Given the description of an element on the screen output the (x, y) to click on. 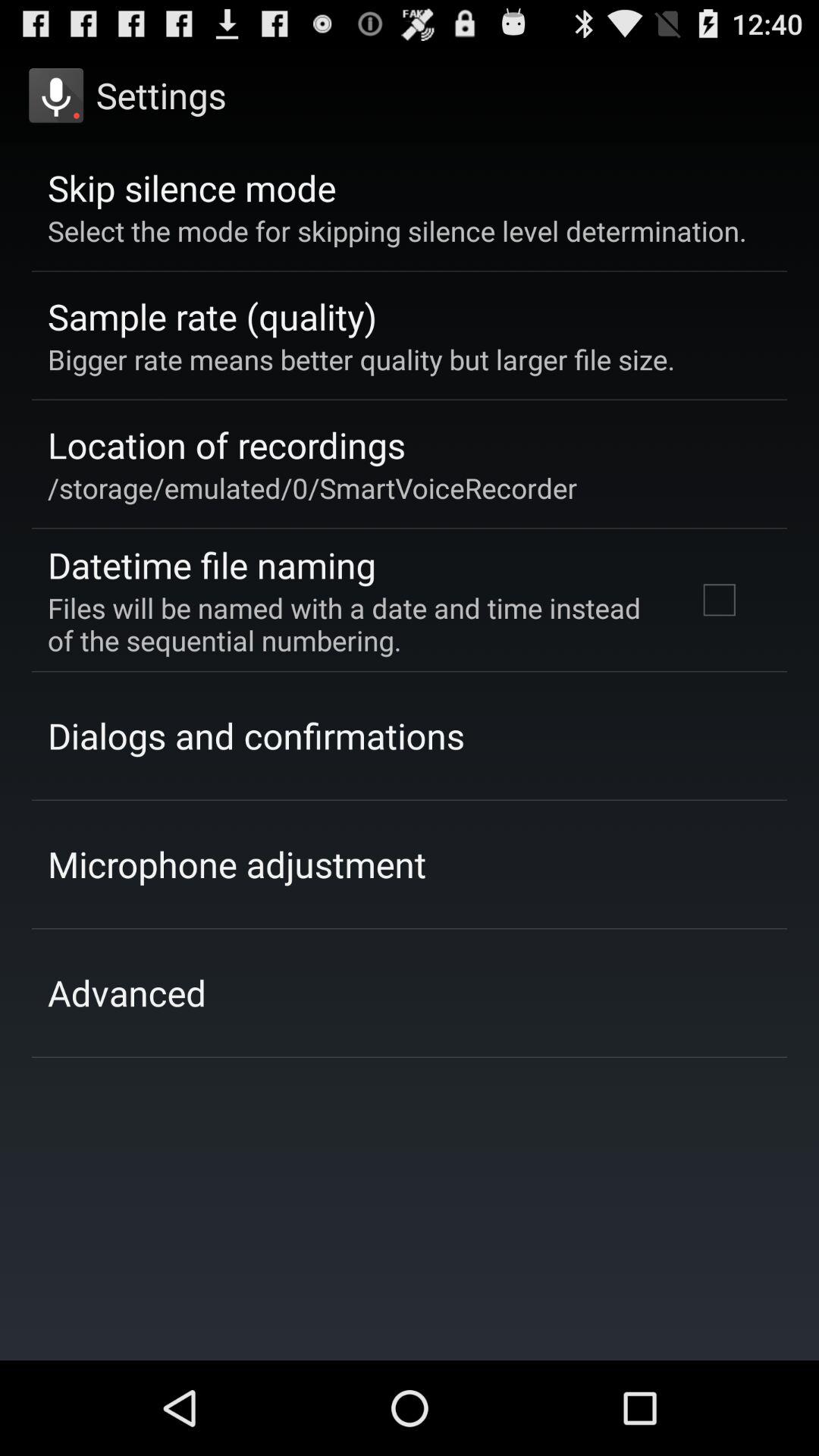
click icon on the right (719, 599)
